Given the description of an element on the screen output the (x, y) to click on. 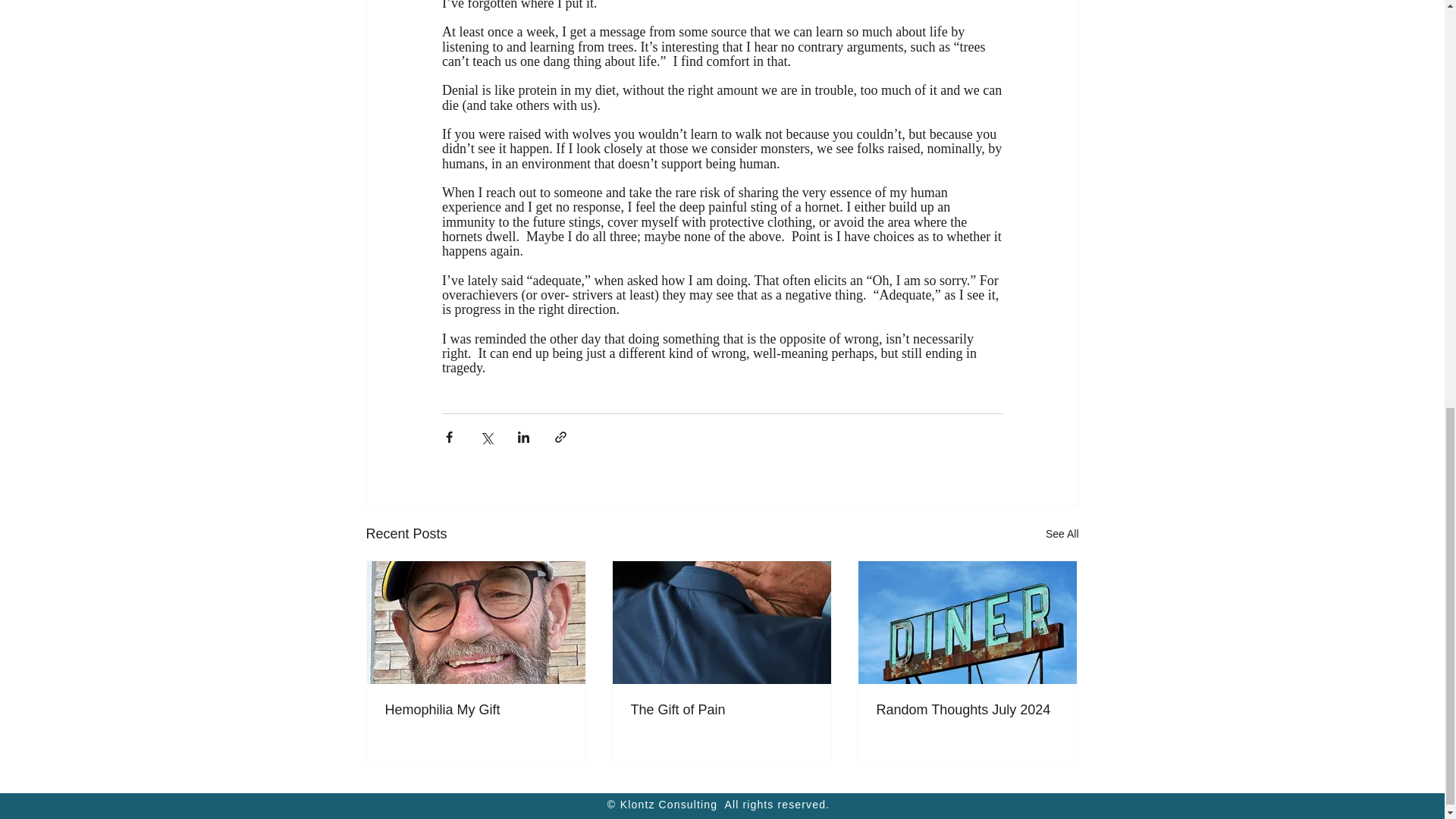
See All (1061, 534)
Random Thoughts July 2024 (967, 709)
Hemophilia My Gift (476, 709)
The Gift of Pain (721, 709)
